Given the description of an element on the screen output the (x, y) to click on. 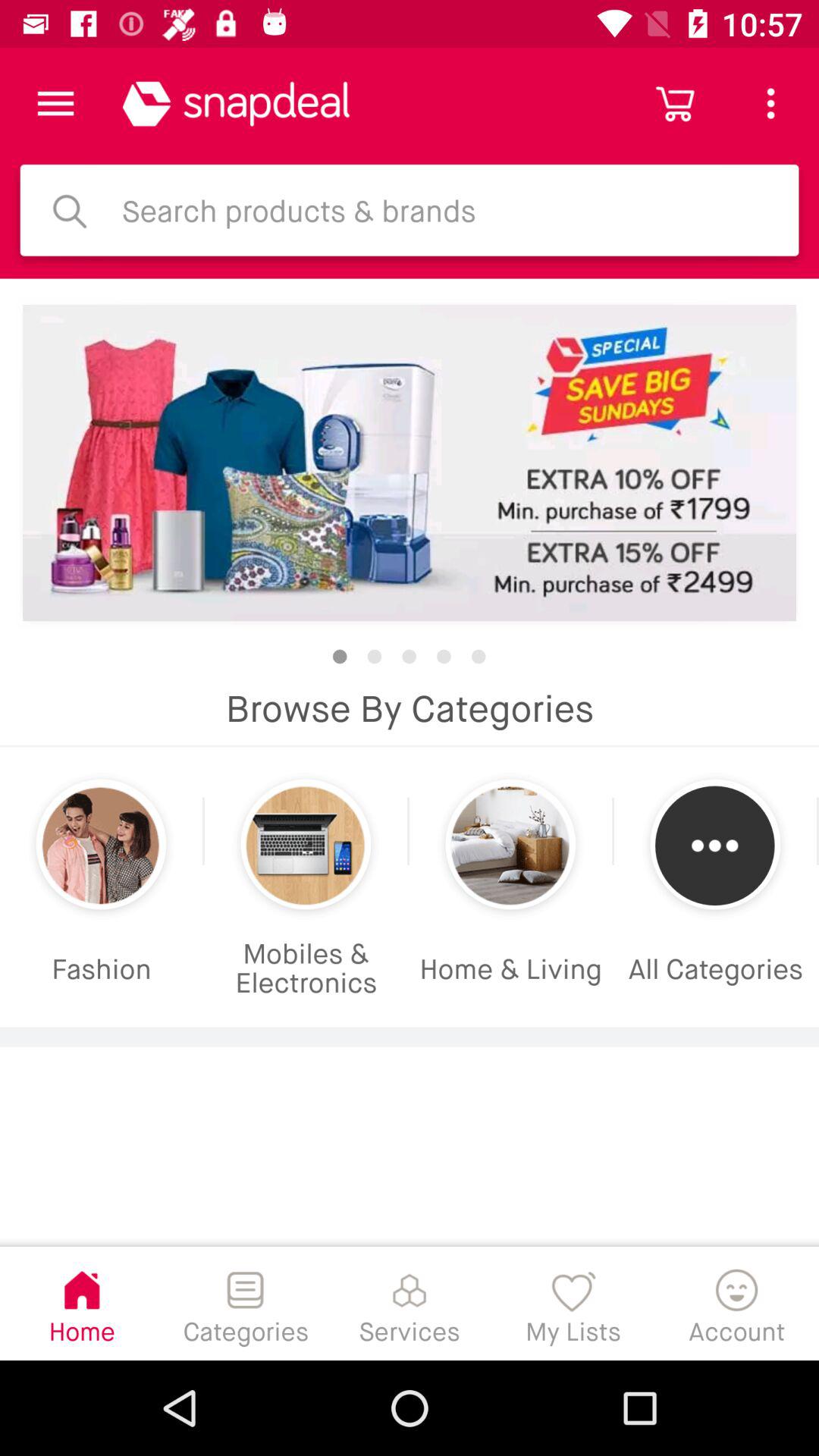
turn off the item to the left of the account item (573, 1303)
